Given the description of an element on the screen output the (x, y) to click on. 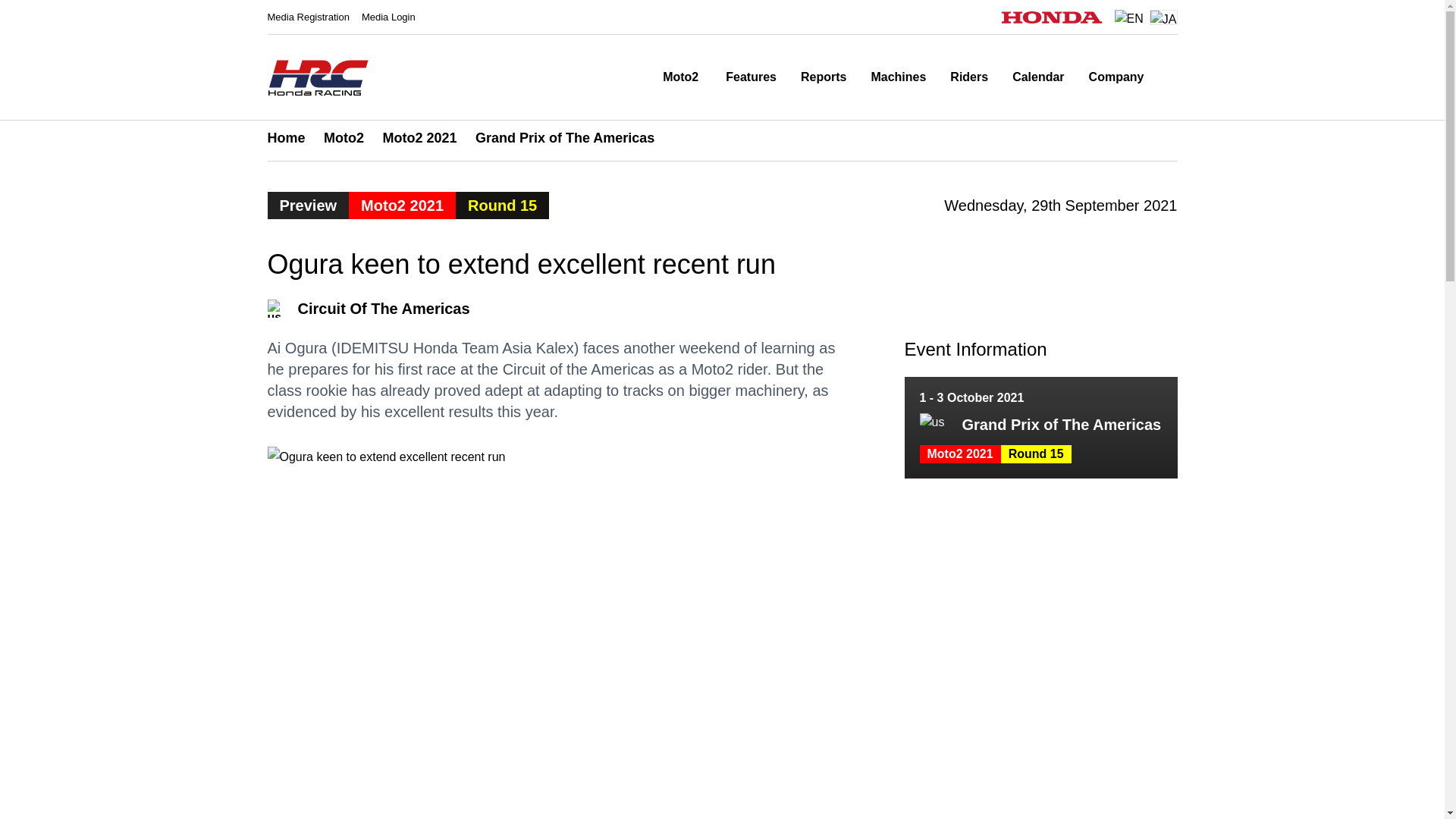
Media Login (387, 16)
Reports (824, 76)
Media Registration (307, 16)
Features (751, 76)
Machines (898, 76)
Calendar (1037, 76)
Company (1116, 76)
Moto2 (681, 76)
Riders (968, 76)
